Given the description of an element on the screen output the (x, y) to click on. 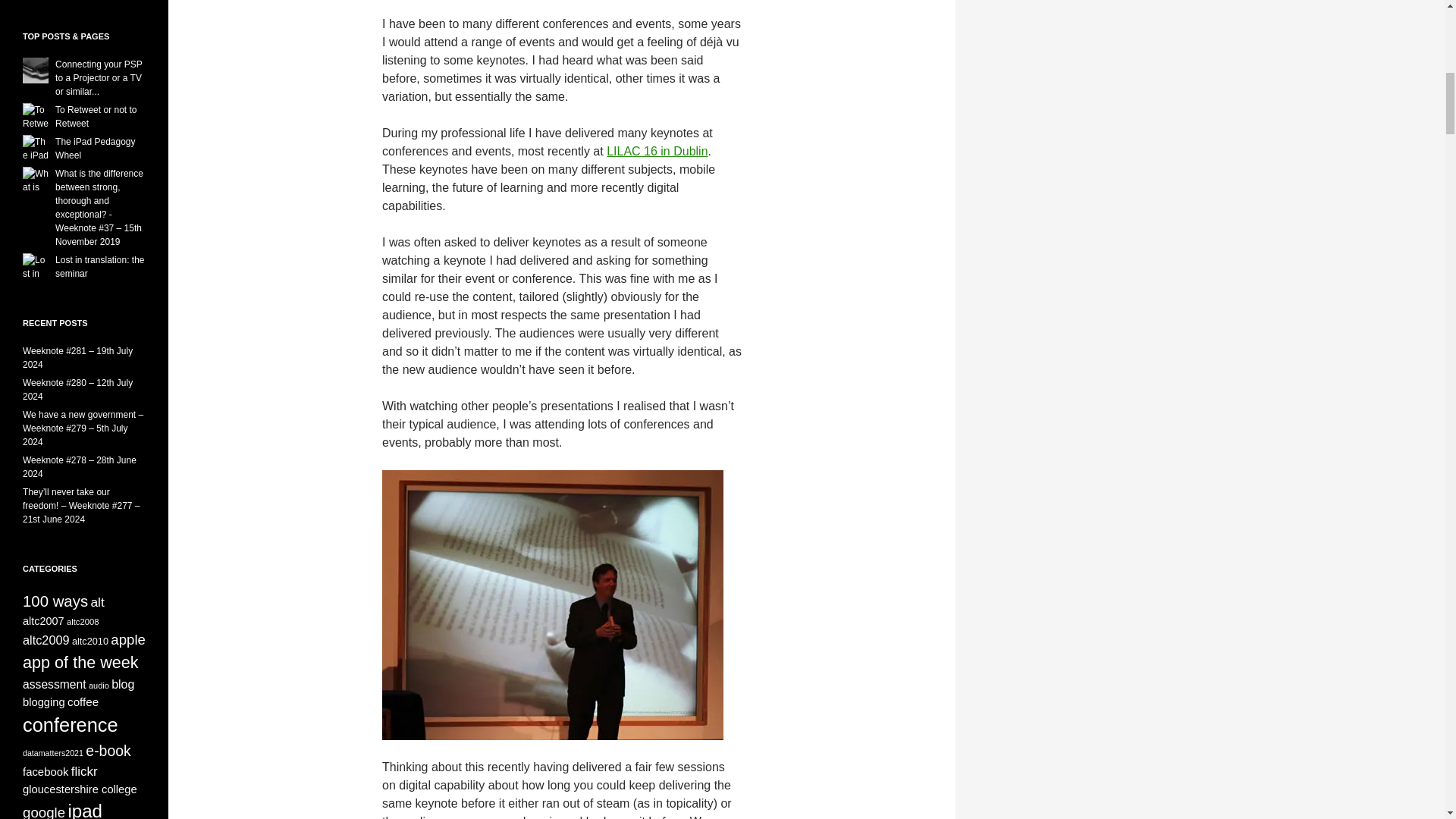
LILAC 16 in Dublin (657, 151)
The iPad Pedagogy Wheel (95, 148)
Connecting your PSP to a Projector or a TV or similar... (98, 77)
To Retweet or not to Retweet (95, 116)
